Given the description of an element on the screen output the (x, y) to click on. 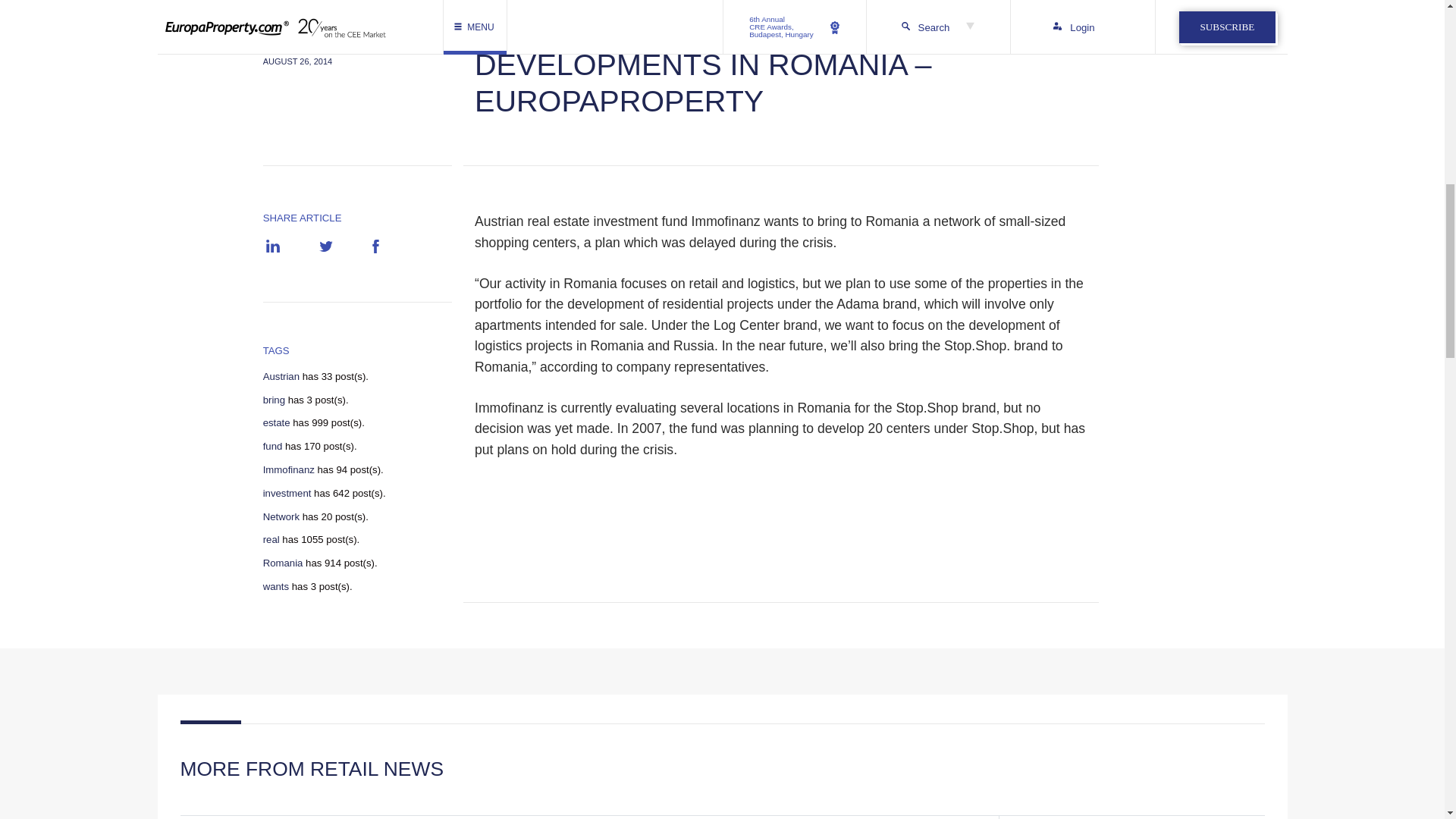
View all posts in Immofinanz (288, 469)
View all posts in investment (287, 493)
bring (274, 399)
Immofinanz (288, 469)
real (271, 539)
estate (276, 422)
Austrian (281, 377)
View all posts in Austrian (281, 377)
Romania (282, 563)
View all posts in fund (272, 446)
